Given the description of an element on the screen output the (x, y) to click on. 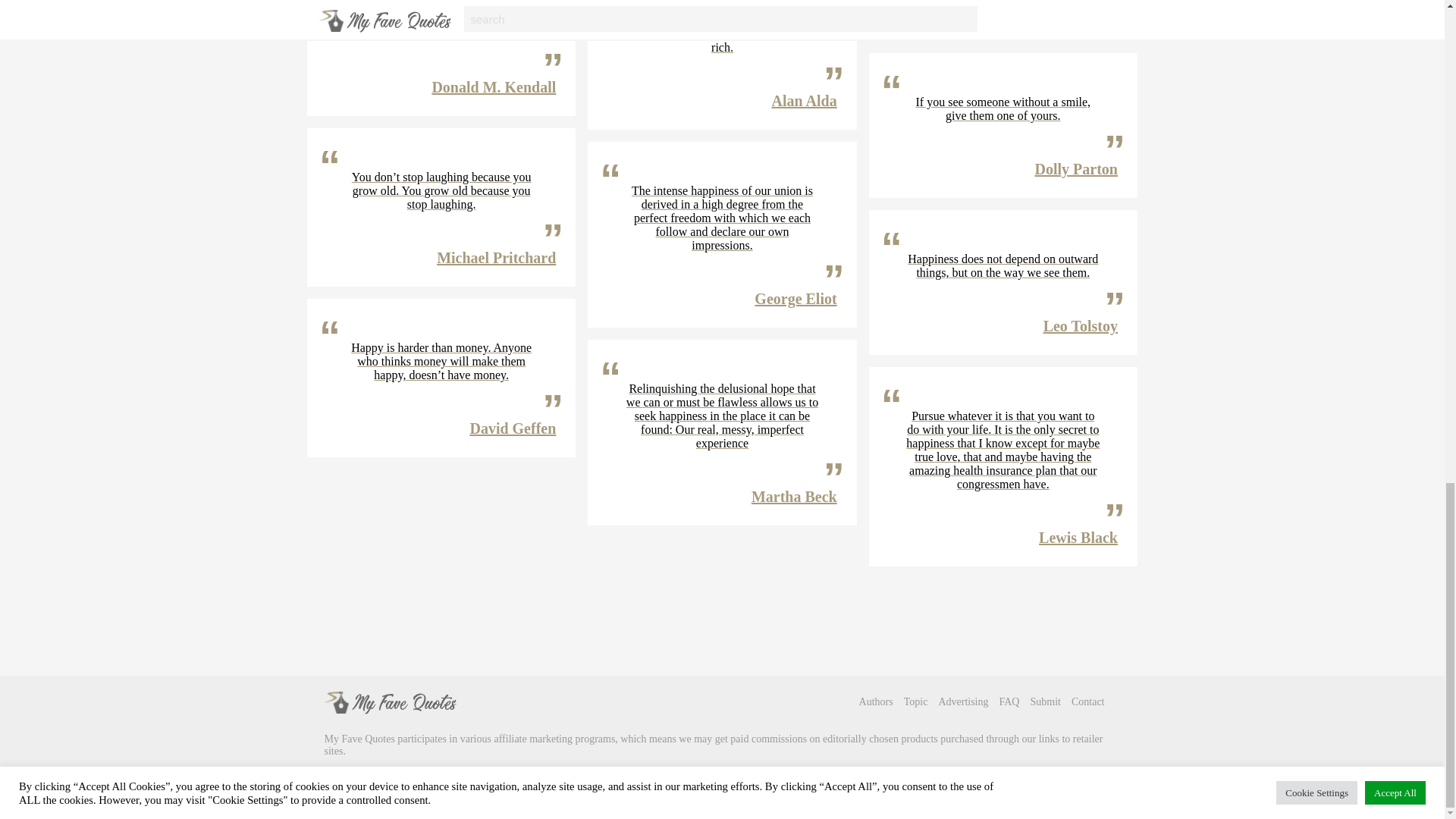
Michael Pritchard (496, 257)
Martha Beck (794, 496)
Donald M. Kendall (493, 86)
David Geffen (512, 428)
George Eliot (794, 298)
Alan Alda (804, 100)
